Given the description of an element on the screen output the (x, y) to click on. 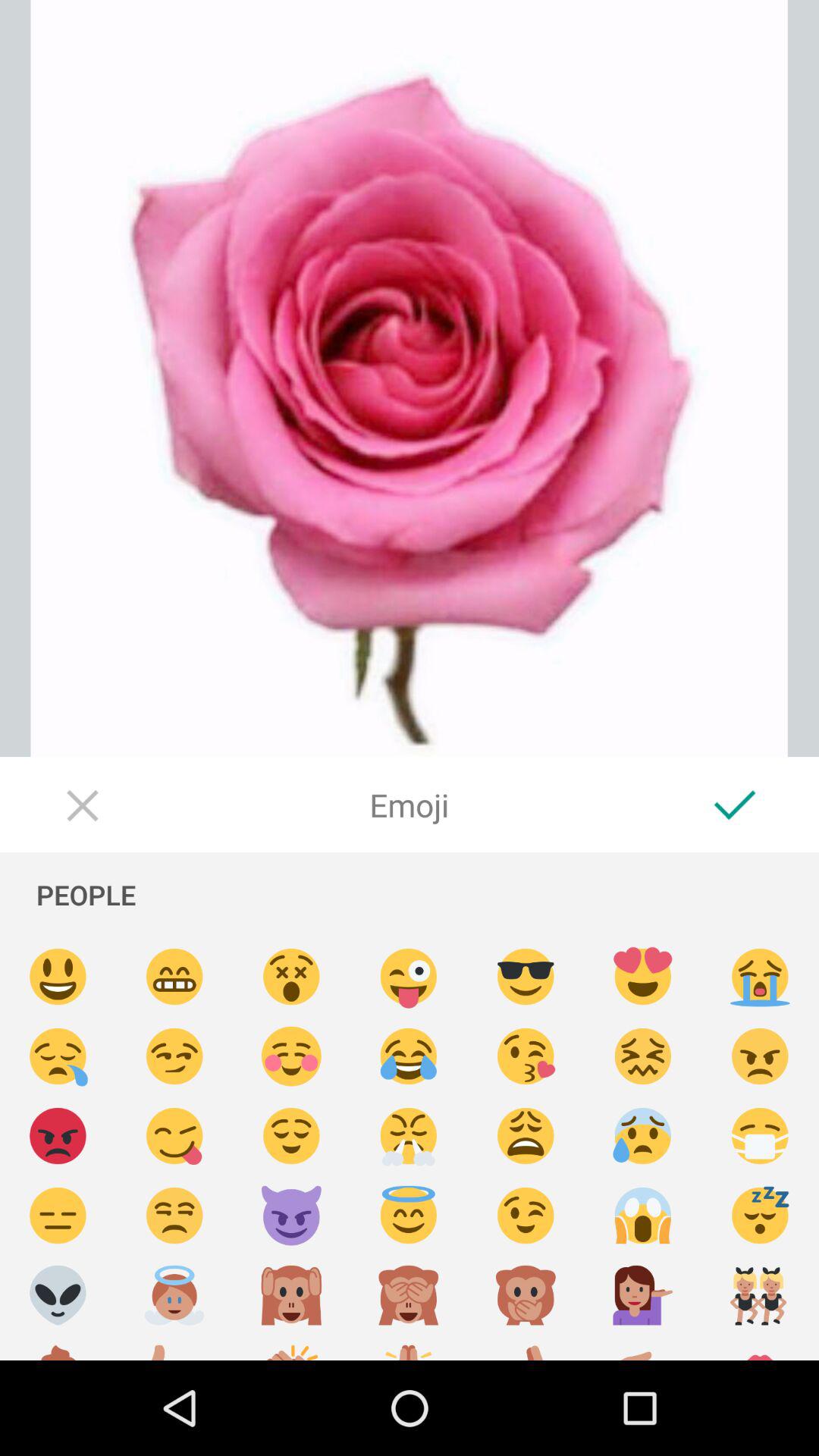
send angry emoji (58, 1136)
